Given the description of an element on the screen output the (x, y) to click on. 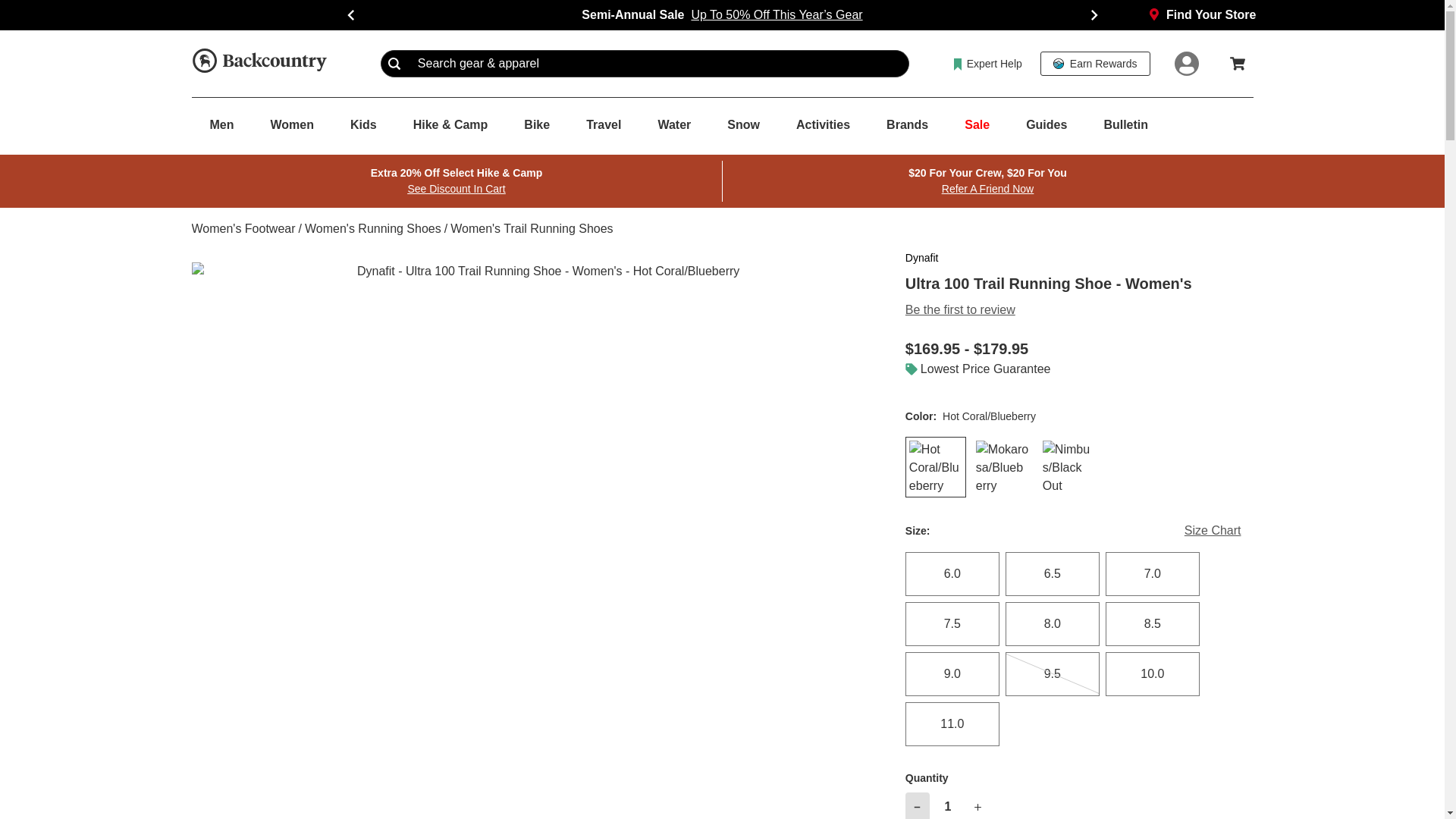
Men (220, 125)
Find Your Store (1202, 14)
Cart, Contains 0 Items (1237, 63)
Home Page (258, 63)
1 (947, 805)
Earn Rewards (1095, 63)
